Given the description of an element on the screen output the (x, y) to click on. 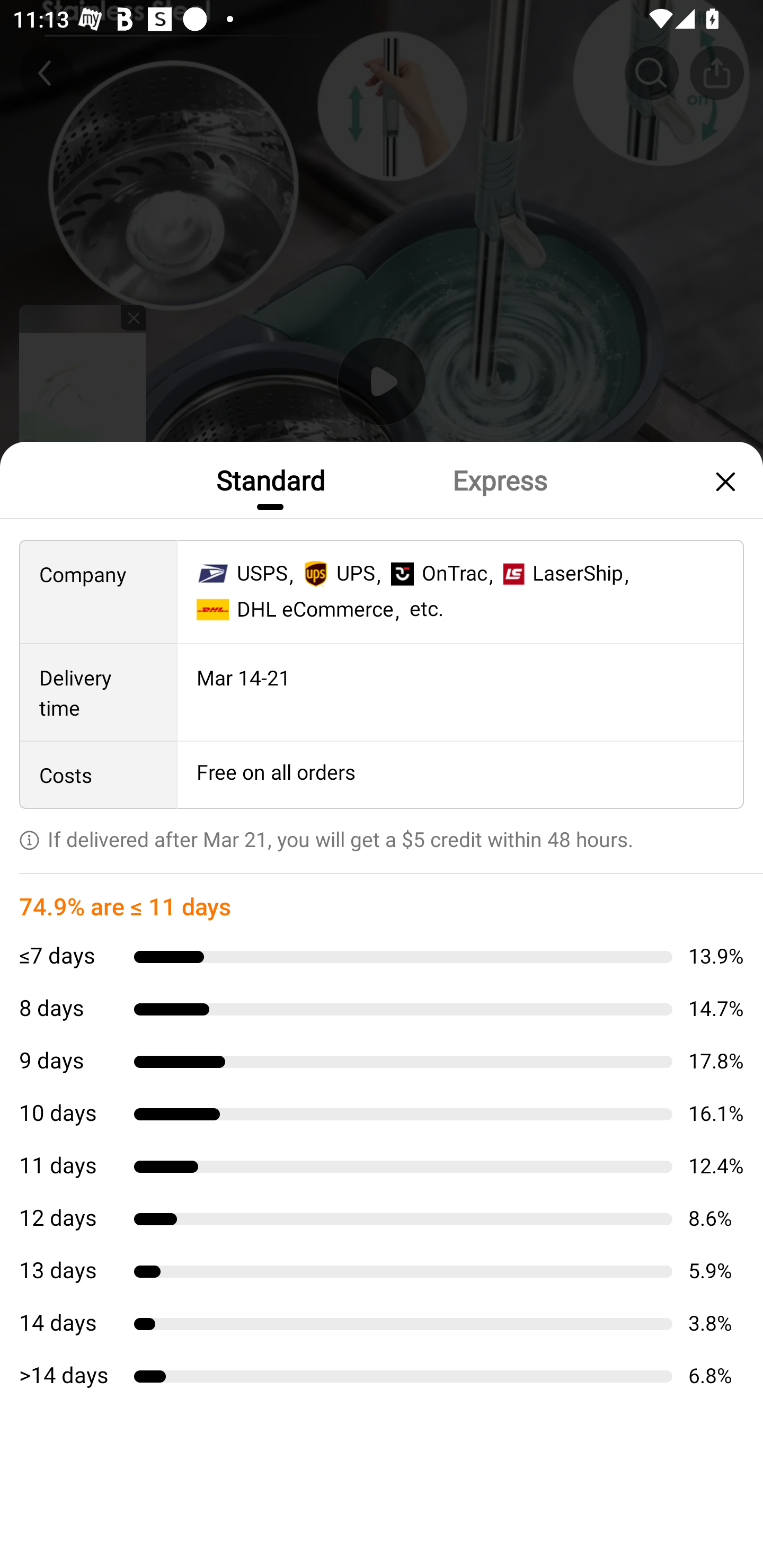
Standard (269, 479)
Express (499, 479)
close (723, 481)
Free shipping on all orders Exclusive offer (381, 836)
￼ ￼ ￼ 4 interest-free biweekly installments ￼ (381, 902)
